Given the description of an element on the screen output the (x, y) to click on. 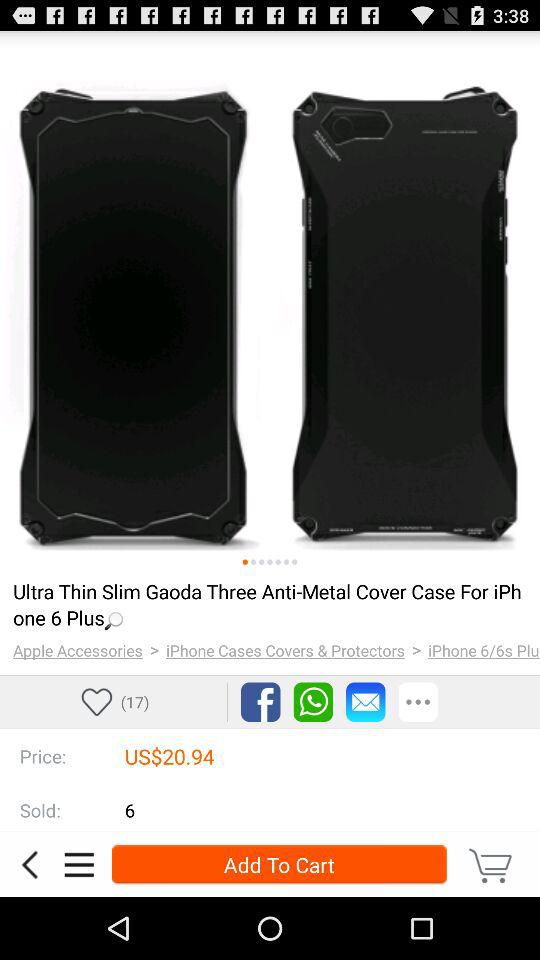
turn on the item next to > (285, 650)
